Given the description of an element on the screen output the (x, y) to click on. 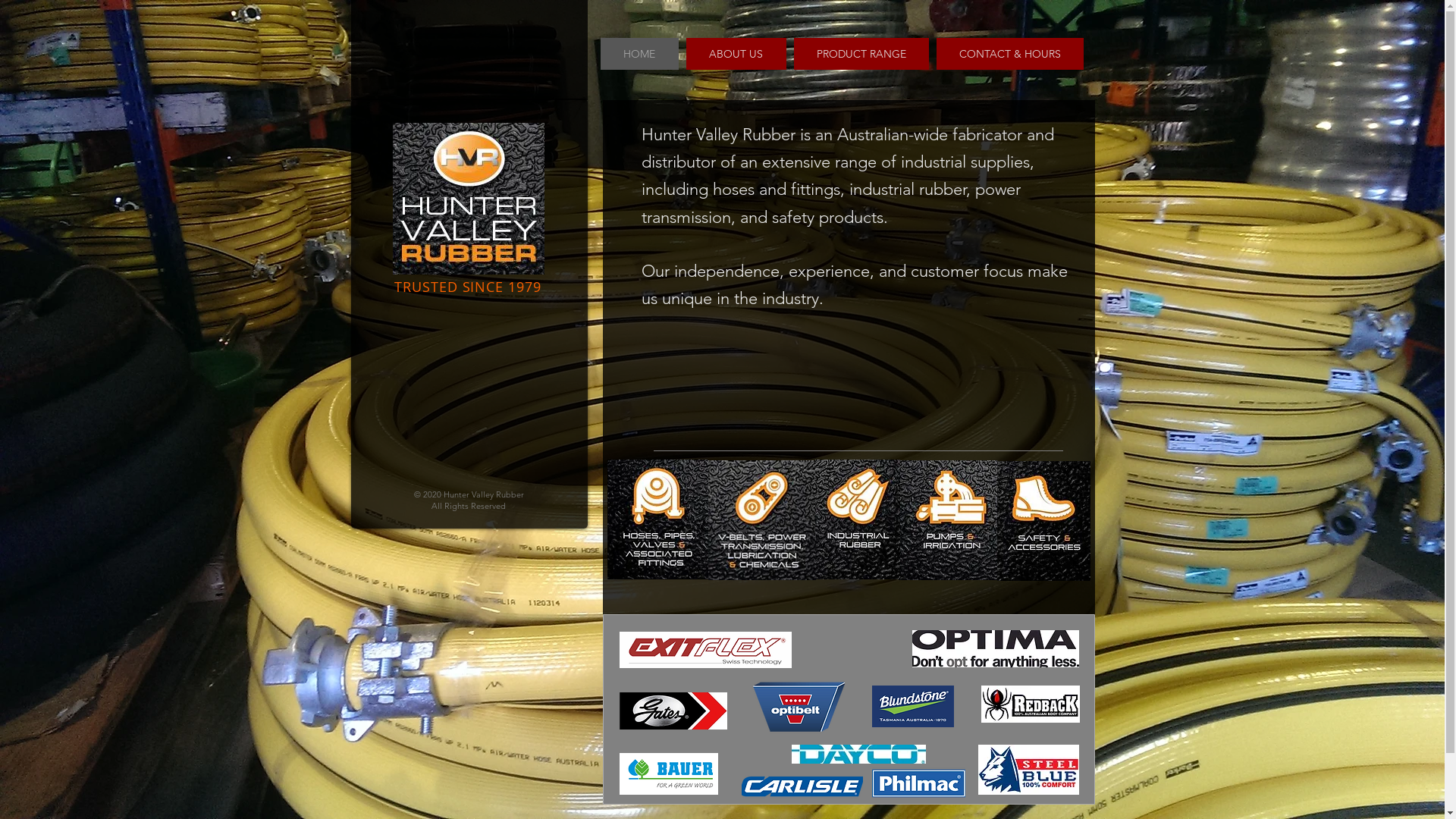
Exitflex.png Element type: hover (704, 649)
PRODUCT RANGE Element type: text (860, 53)
ABOUT US Element type: text (735, 53)
CONTACT & HOURS Element type: text (1008, 53)
Optima_CMYK_tag.jpg Element type: hover (994, 648)
HOME Element type: text (639, 53)
